Given the description of an element on the screen output the (x, y) to click on. 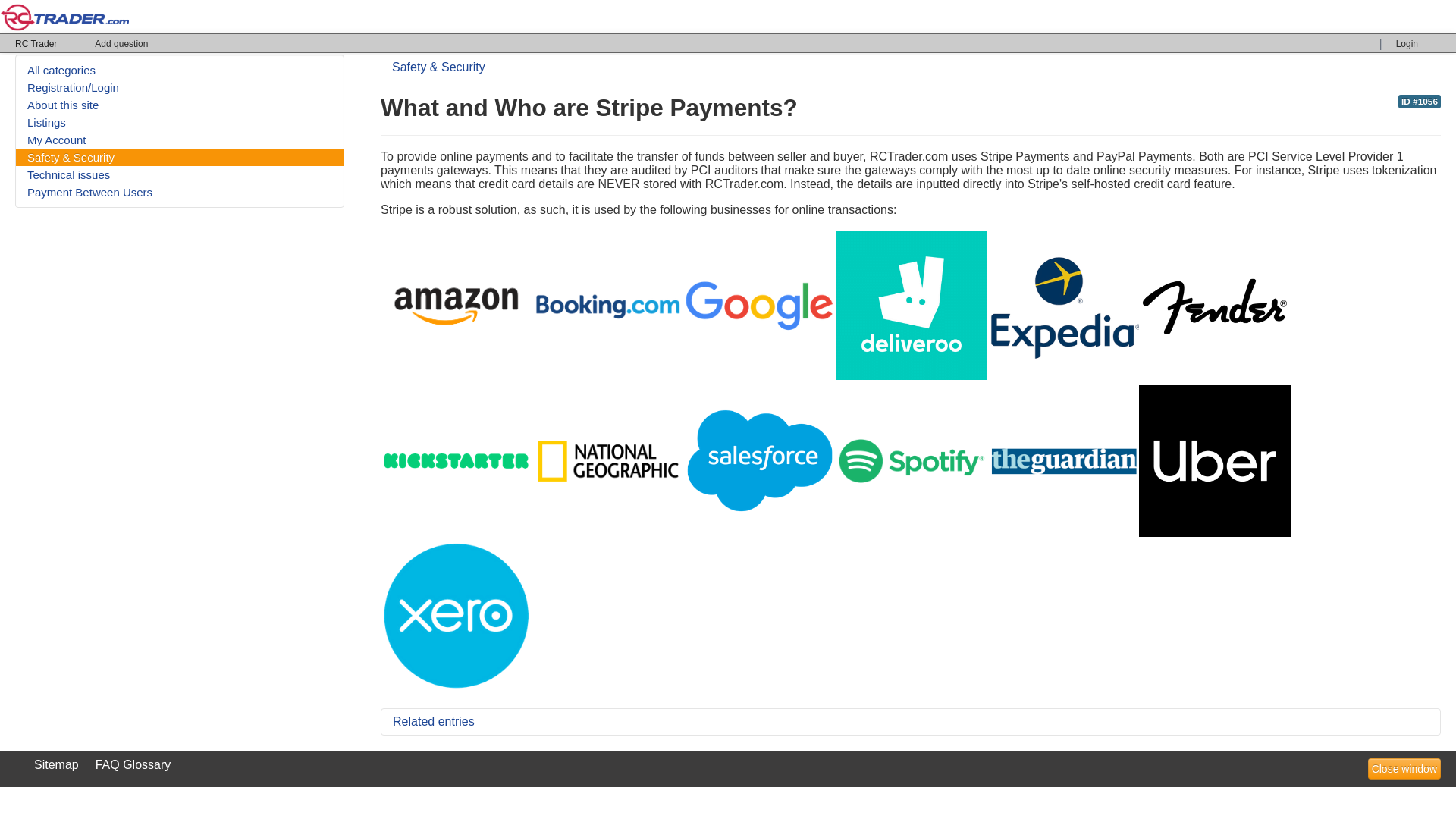
RC Trader (35, 43)
Close window (1404, 768)
Login (1407, 43)
My Account (179, 139)
All categories (179, 69)
Technical issues (179, 174)
RC Trader (35, 43)
Payment Between Users (179, 191)
About this site (179, 104)
FAQ Glossary (133, 764)
Listings (179, 122)
Sitemap (55, 764)
Add question (121, 43)
Related entries (910, 721)
